Given the description of an element on the screen output the (x, y) to click on. 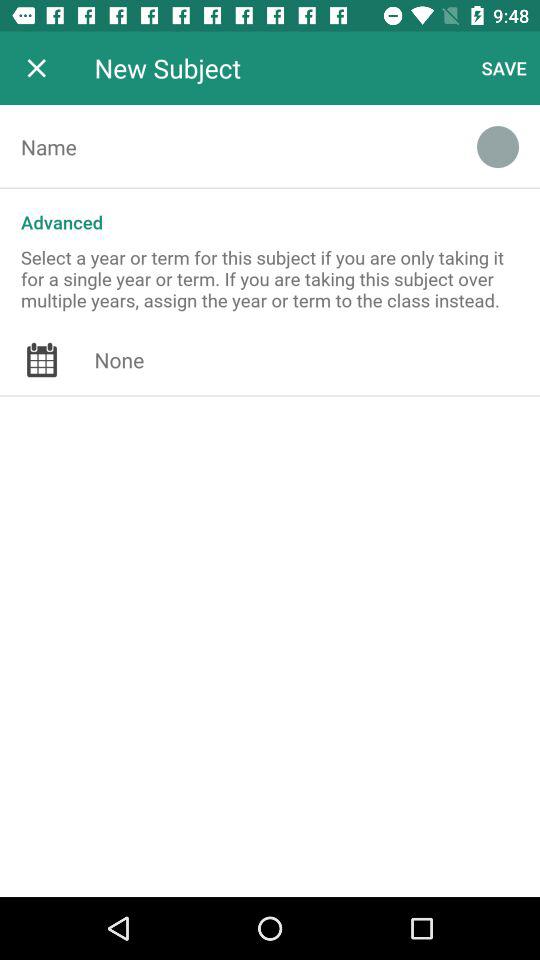
select date from calendar (317, 359)
